Given the description of an element on the screen output the (x, y) to click on. 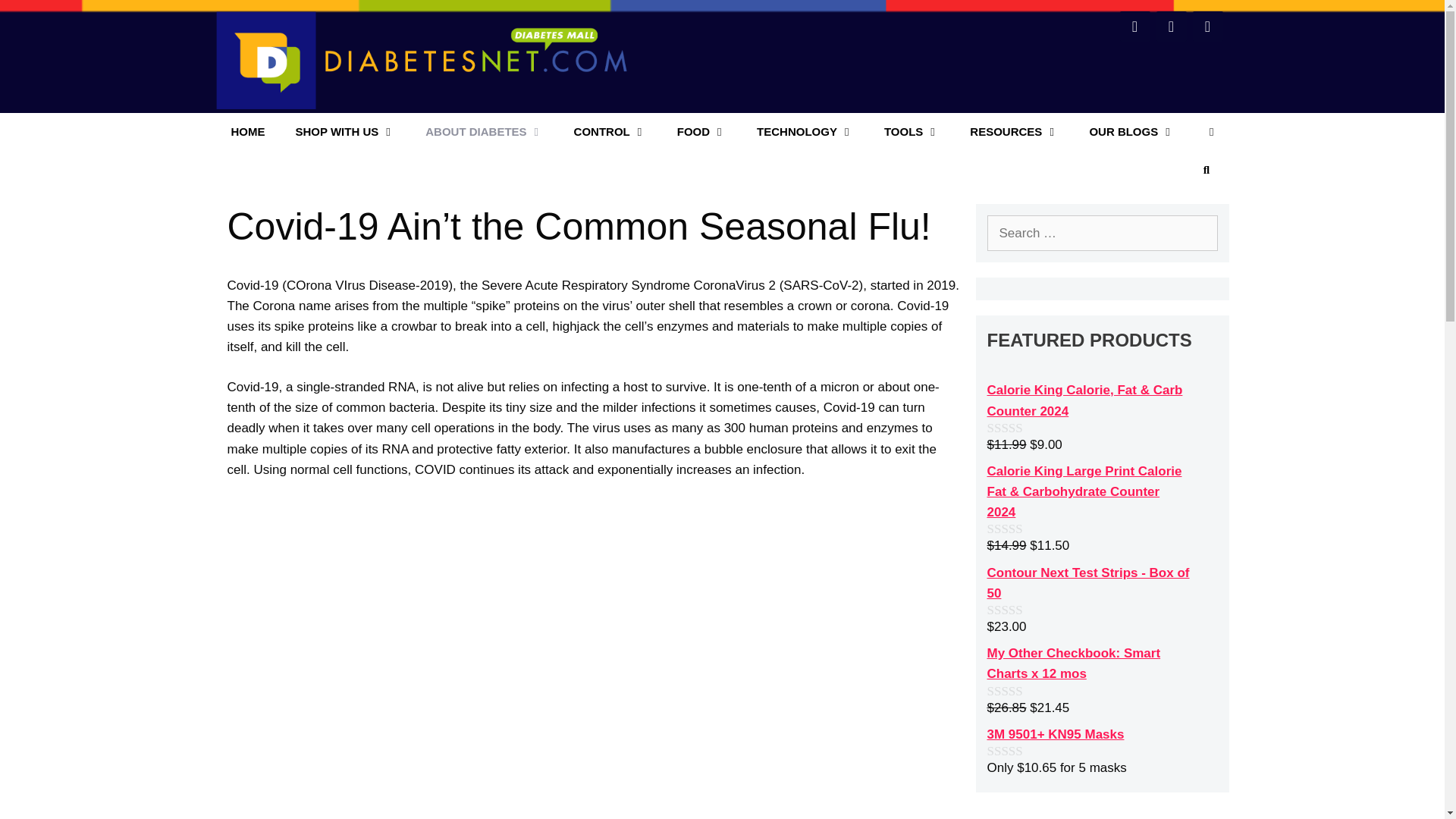
Facebook (1134, 26)
Not yet rated (1022, 690)
Twitter (1171, 26)
RSS (1207, 26)
Not yet rated (1022, 528)
Not yet rated (1022, 750)
Not yet rated (1022, 427)
Search for: (1102, 233)
View your shopping cart (1210, 131)
Not yet rated (1022, 609)
